Given the description of an element on the screen output the (x, y) to click on. 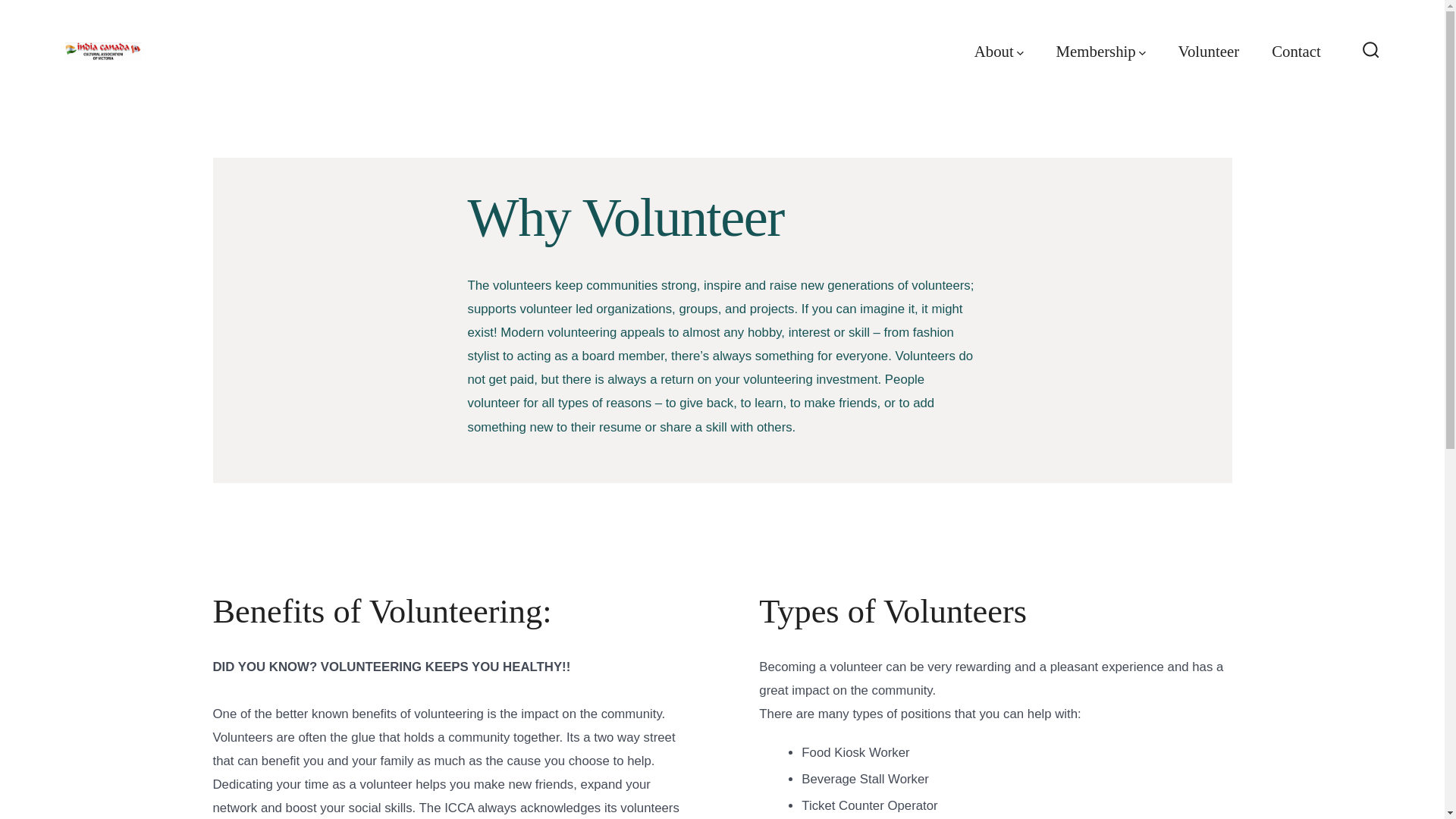
Search Toggle (1371, 50)
Membership (1101, 51)
About (998, 51)
Contact (1295, 51)
Volunteer (1208, 51)
